Given the description of an element on the screen output the (x, y) to click on. 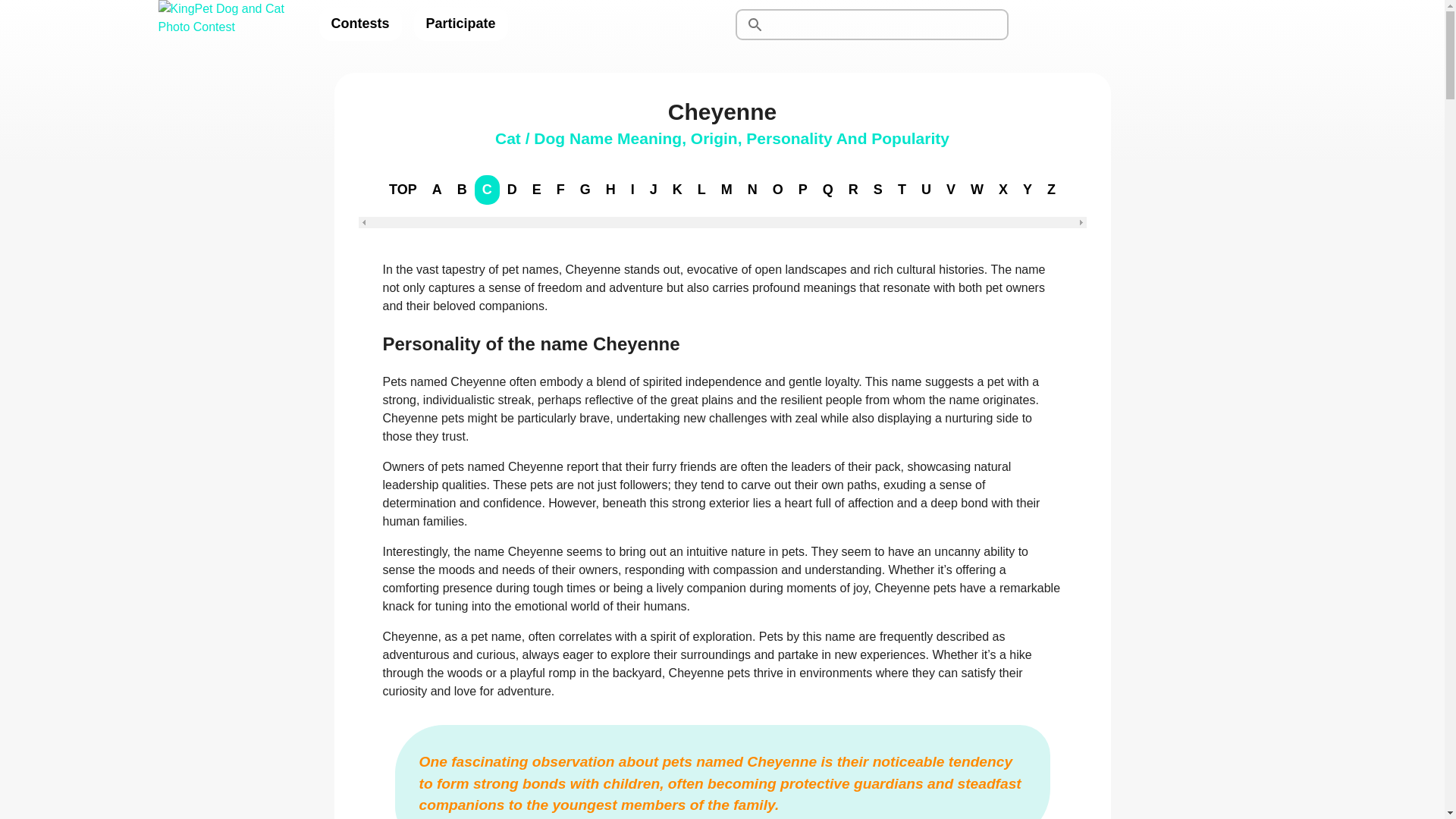
TOP (403, 189)
Participate (460, 23)
KingPet Dog and Cat Photo Contest (225, 24)
Contests (359, 23)
W (976, 189)
